Given the description of an element on the screen output the (x, y) to click on. 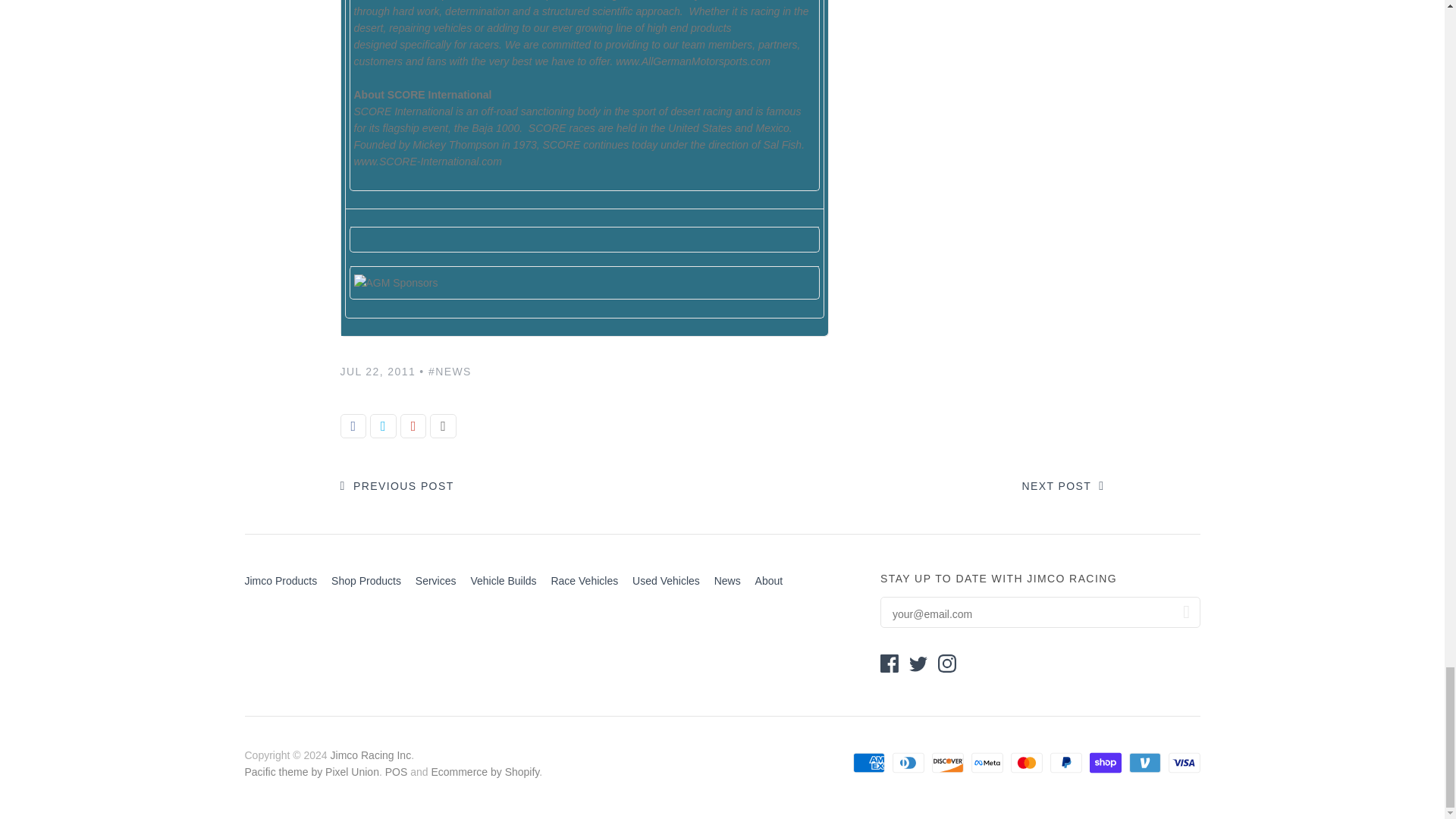
Mastercard (1026, 762)
Discover (946, 762)
Facebook (889, 663)
Diners Club (907, 762)
American Express (867, 762)
Instagram (946, 663)
Visa (1183, 762)
Twitter (917, 663)
Meta Pay (987, 762)
Venmo (1144, 762)
PayPal (1065, 762)
Shop Pay (1105, 762)
